Given the description of an element on the screen output the (x, y) to click on. 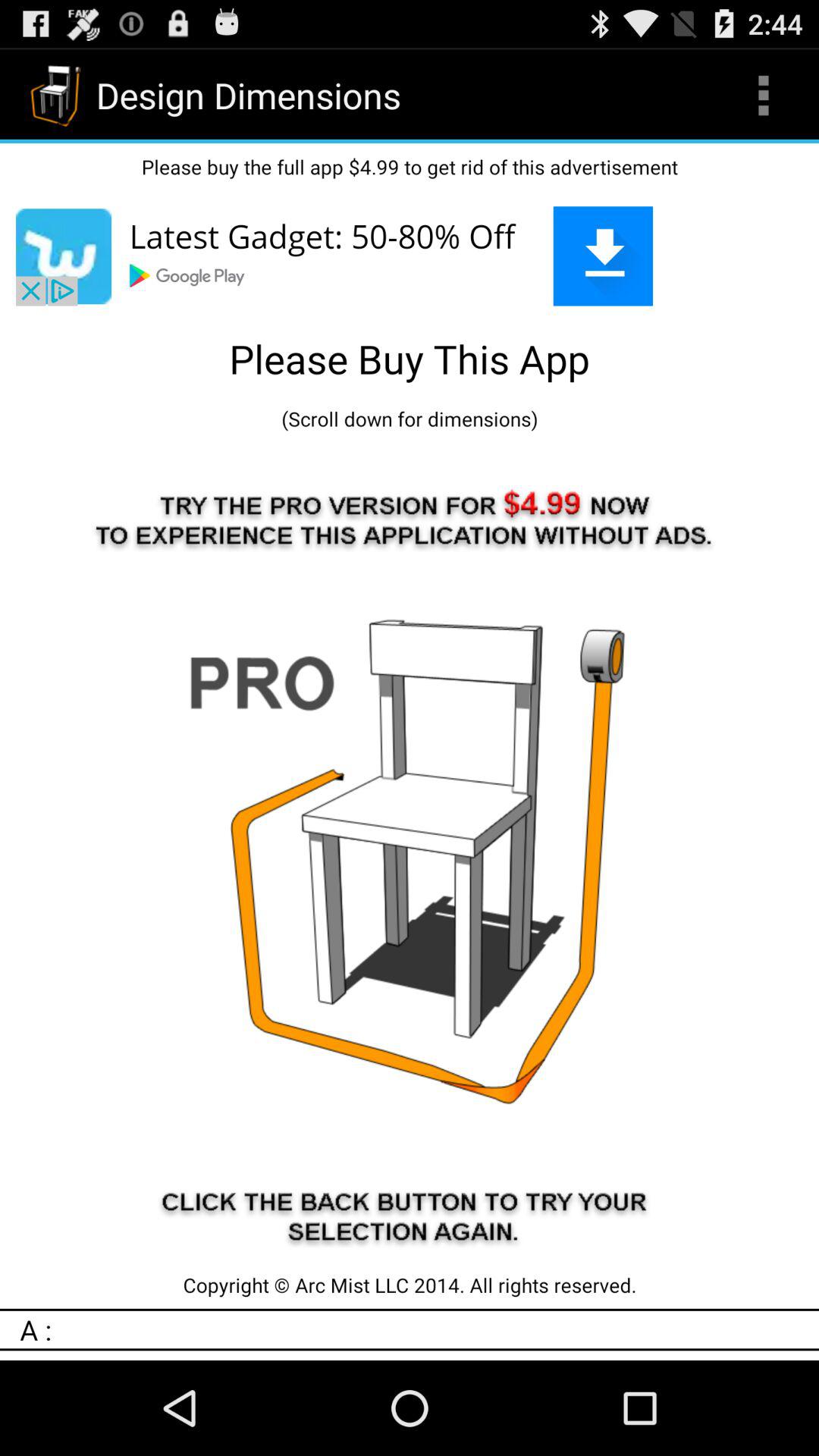
press scroll down for item (409, 418)
